Given the description of an element on the screen output the (x, y) to click on. 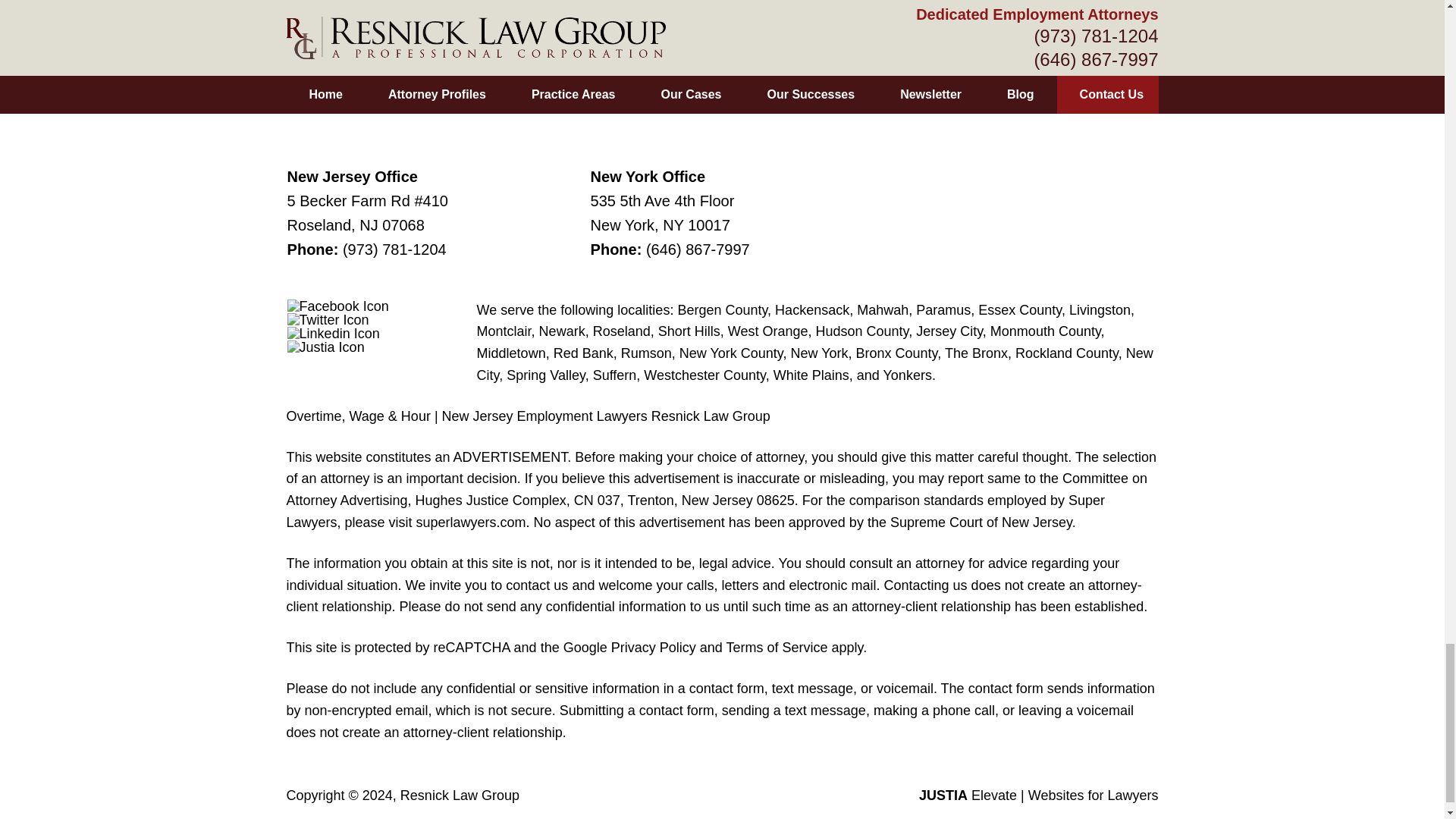
Justia (325, 346)
Linkedin (333, 333)
Twitter (327, 319)
Facebook (337, 305)
